Given the description of an element on the screen output the (x, y) to click on. 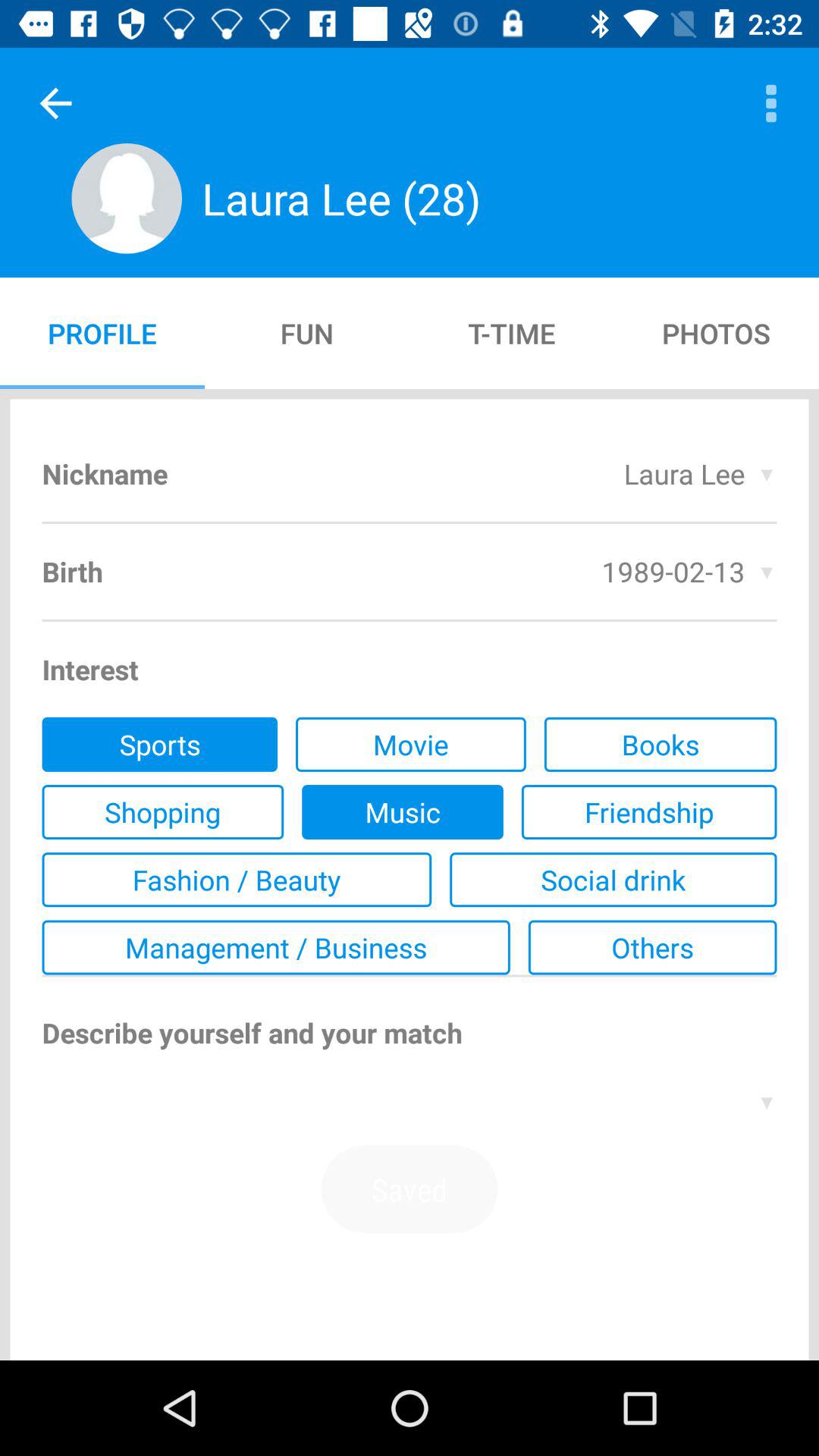
select icon to the left of friendship icon (402, 811)
